Given the description of an element on the screen output the (x, y) to click on. 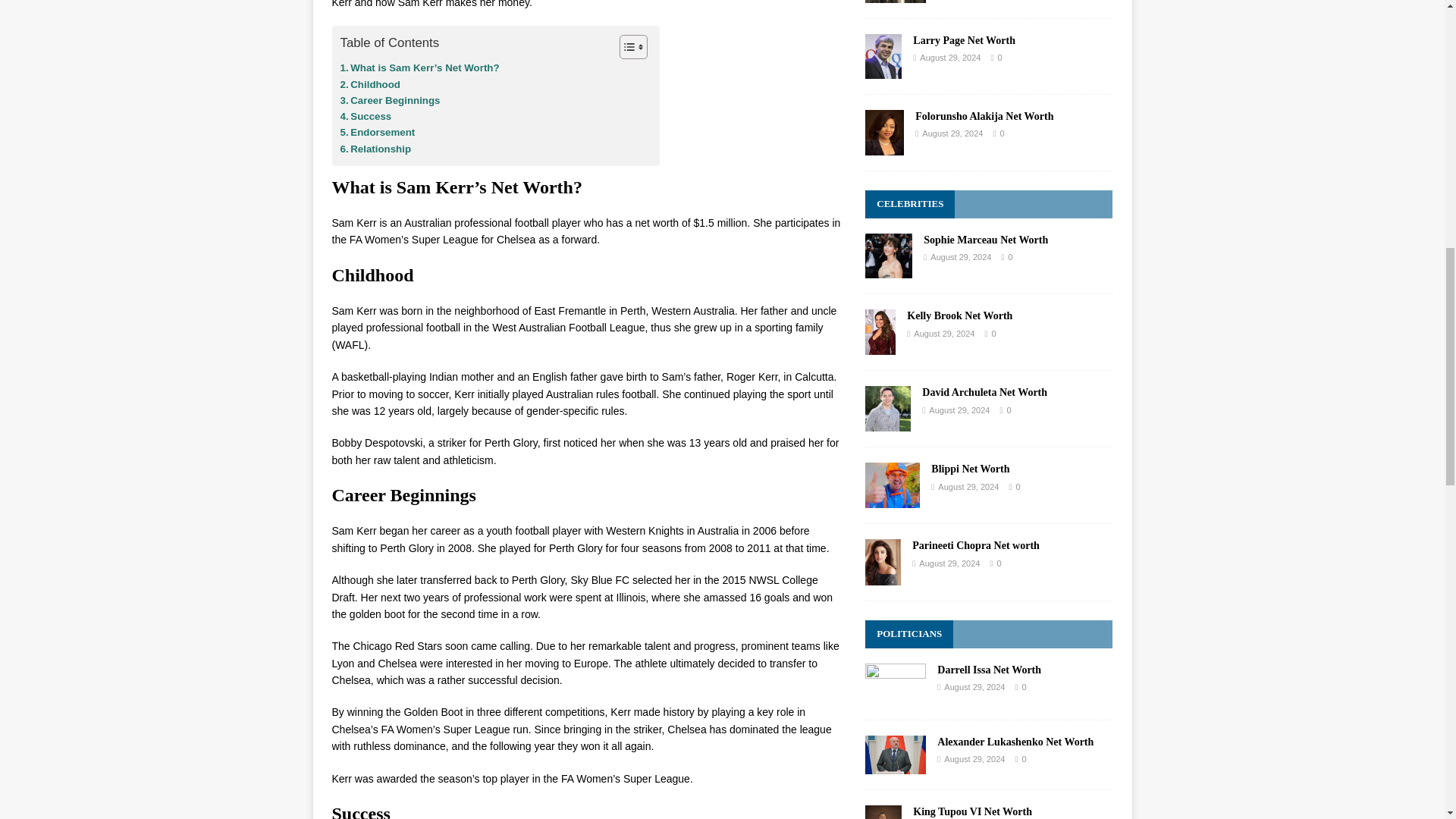
Career Beginnings (389, 100)
Relationship (374, 148)
Success (365, 116)
Childhood (369, 84)
Childhood (369, 84)
Success (365, 116)
Relationship (374, 148)
Endorsement (376, 132)
Career Beginnings (389, 100)
Endorsement (376, 132)
